Given the description of an element on the screen output the (x, y) to click on. 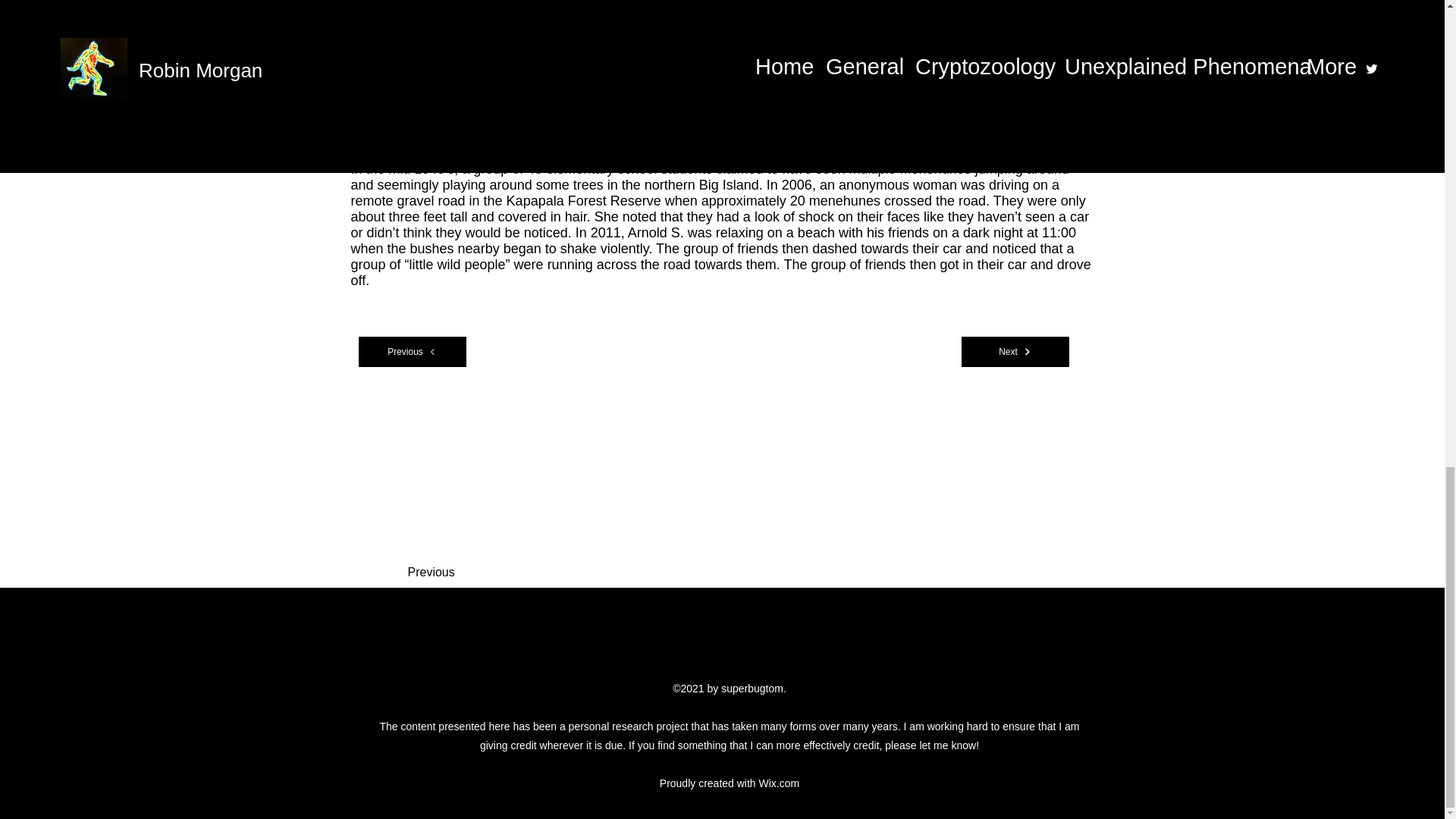
Next (1014, 351)
Previous (411, 351)
Previous (457, 572)
